Given the description of an element on the screen output the (x, y) to click on. 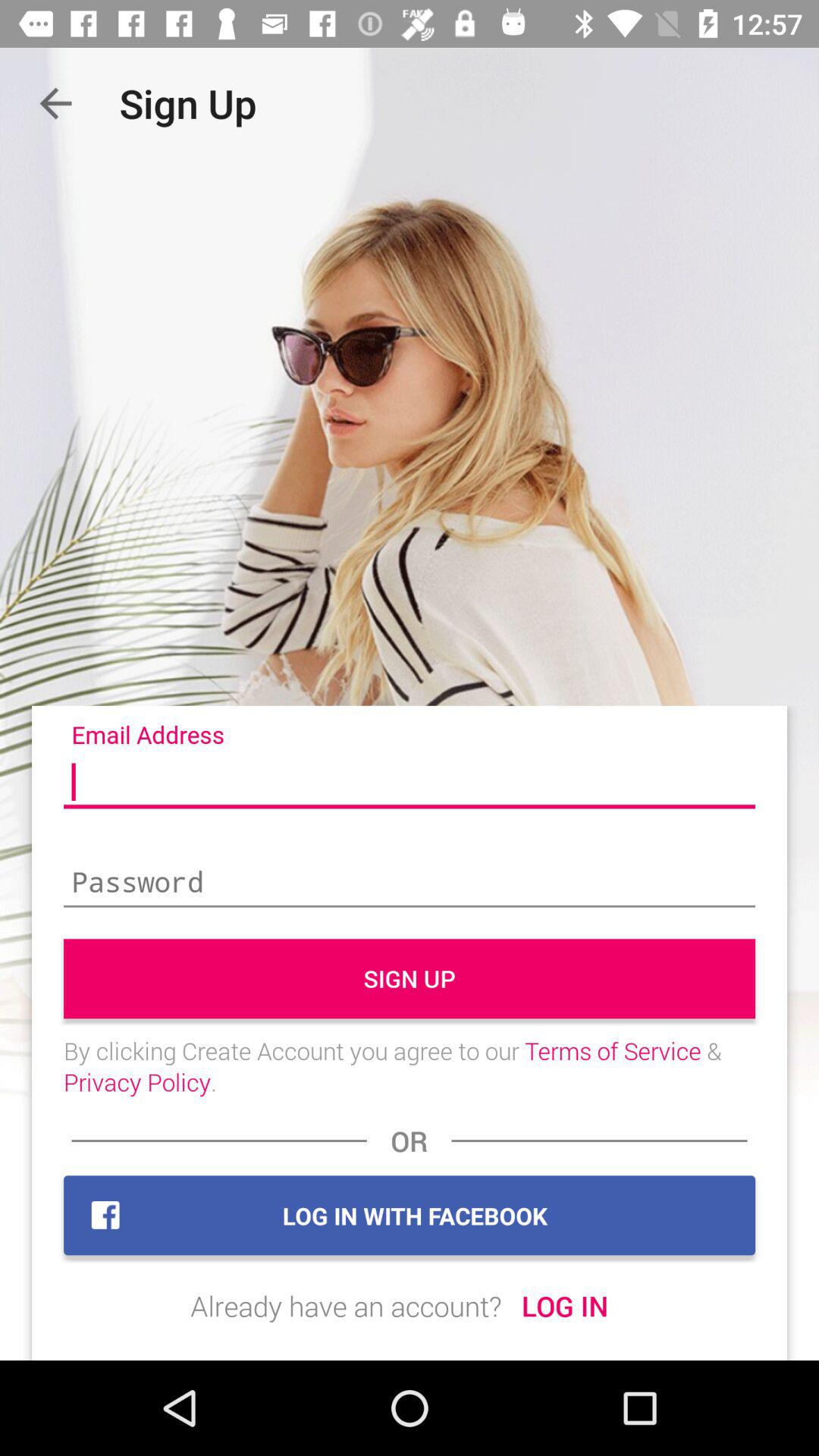
scroll to by clicking create item (409, 1066)
